Given the description of an element on the screen output the (x, y) to click on. 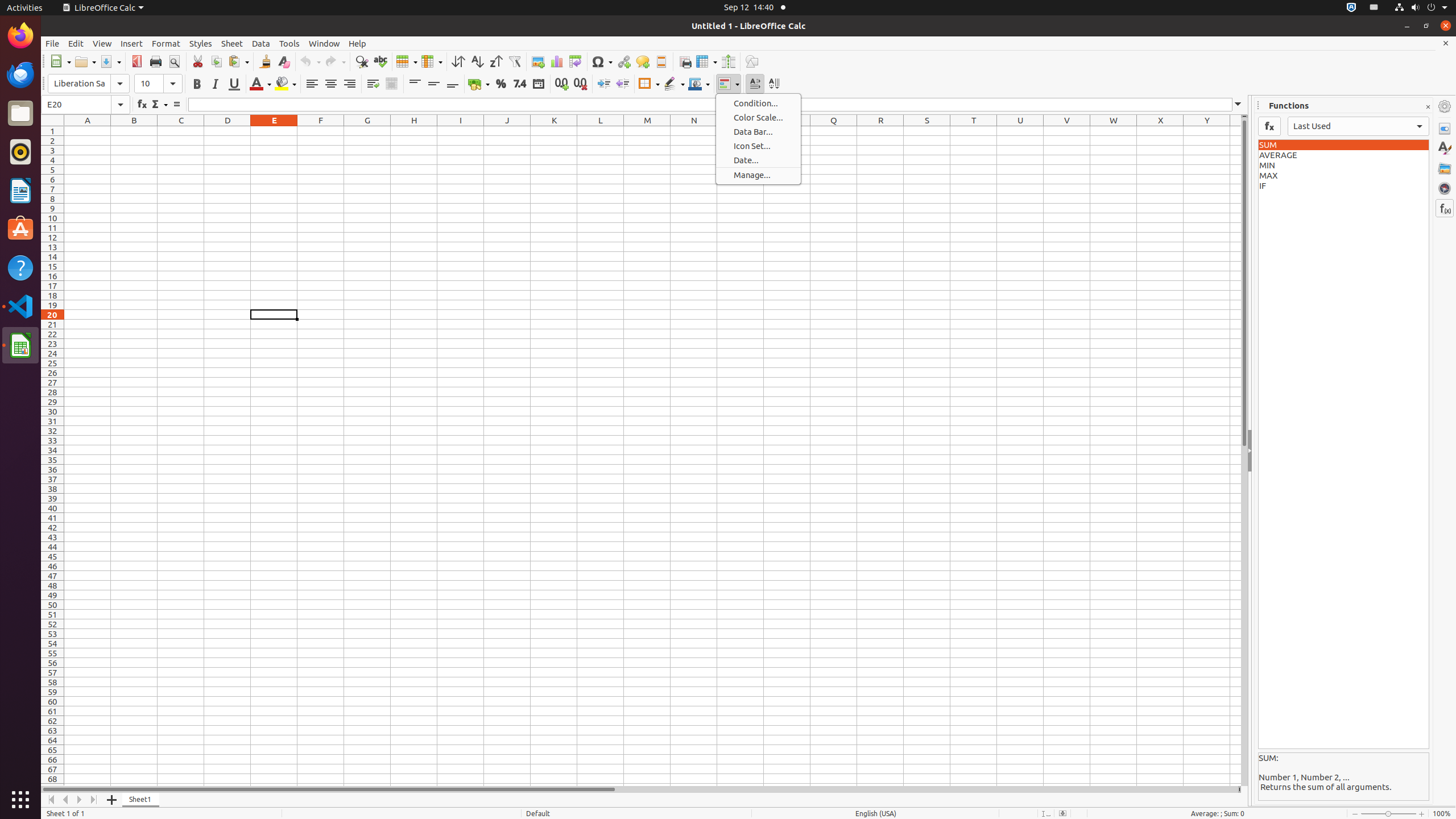
LibreOffice Writer Element type: push-button (20, 190)
Firefox Web Browser Element type: push-button (20, 35)
LibreOffice Calc Element type: menu (102, 7)
System Element type: menu (1420, 7)
